Given the description of an element on the screen output the (x, y) to click on. 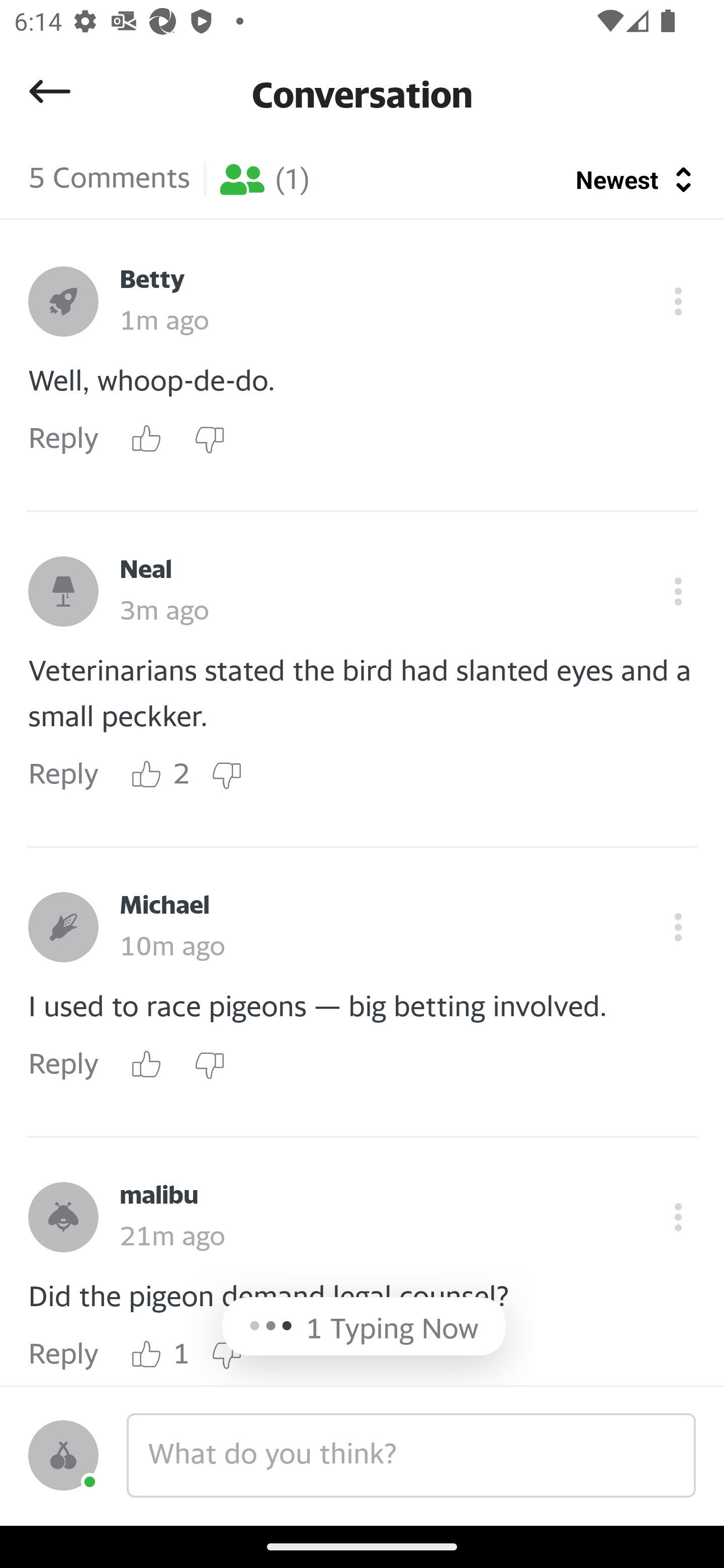
Newest (635, 179)
Profile image (63, 301)
Options menu (677, 301)
Betty (152, 280)
Reply (62, 438)
Up vote button Up vote button Up vote button (146, 438)
Down vote button Down vote button Down vote button (209, 438)
Profile image (63, 591)
Options menu (677, 591)
Neal (145, 570)
Reply (62, 774)
Up vote button Up vote button Up vote button (146, 775)
Down vote button Down vote button Down vote button (226, 775)
Profile image (63, 927)
Options menu (677, 927)
Michael (164, 905)
Reply (62, 1065)
Up vote button Up vote button Up vote button (146, 1064)
Down vote button Down vote button Down vote button (209, 1064)
Profile image (63, 1217)
Options menu (677, 1217)
malibu (158, 1195)
Reply (62, 1354)
Up vote button Up vote button Up vote button (146, 1354)
Down vote button Down vote button Down vote button (226, 1354)
What do you think? (410, 1454)
Profile image (63, 1455)
